Given the description of an element on the screen output the (x, y) to click on. 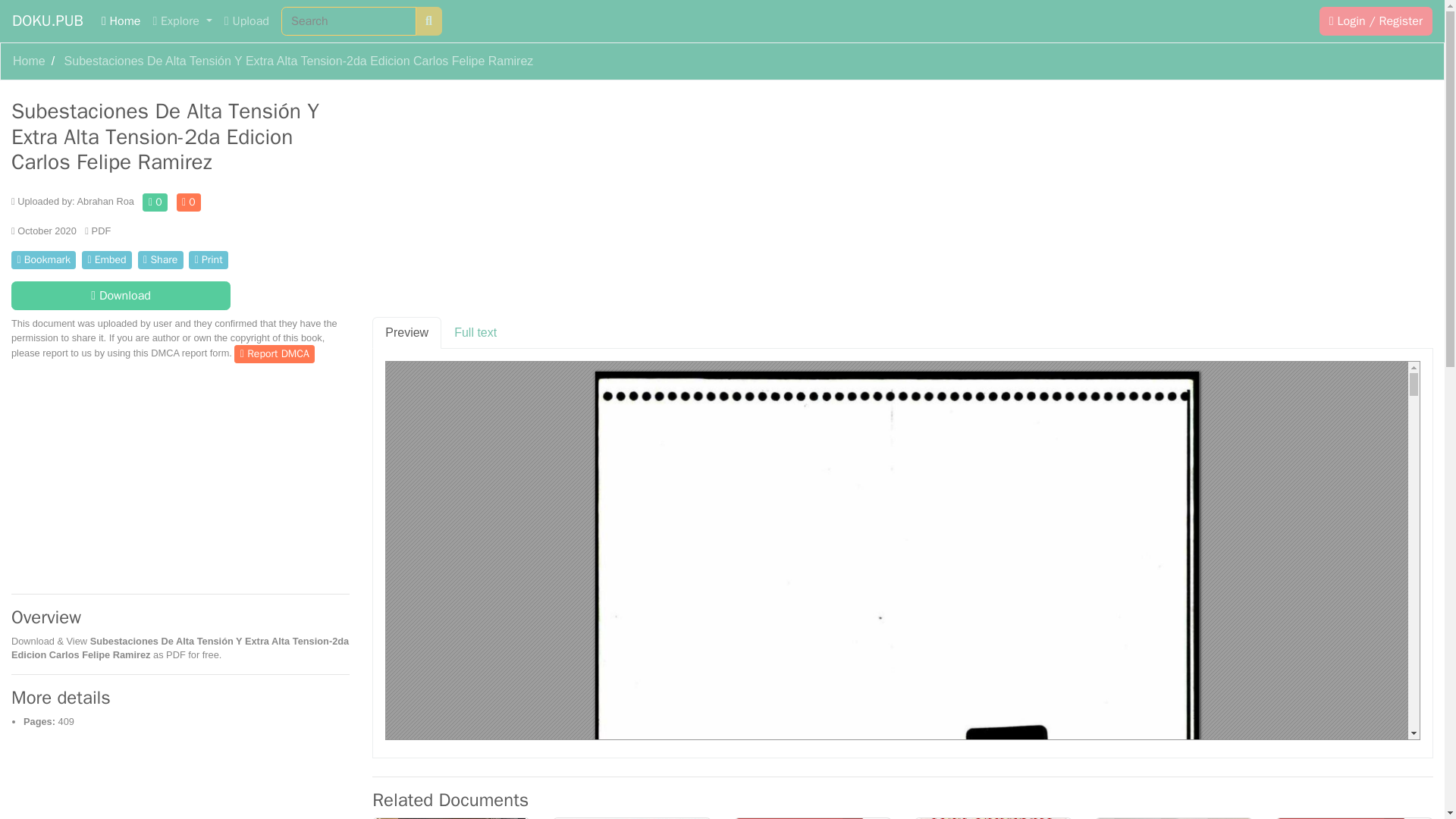
0 (189, 202)
Report DMCA (274, 353)
0 (154, 202)
Share (160, 259)
Vote up (154, 202)
Embed (106, 259)
Home (29, 60)
Advertisement (180, 475)
DOKU.PUB (46, 20)
Download (120, 295)
Bookmark (43, 259)
Print (208, 259)
Upload (246, 20)
Home (29, 60)
Explore (181, 20)
